Given the description of an element on the screen output the (x, y) to click on. 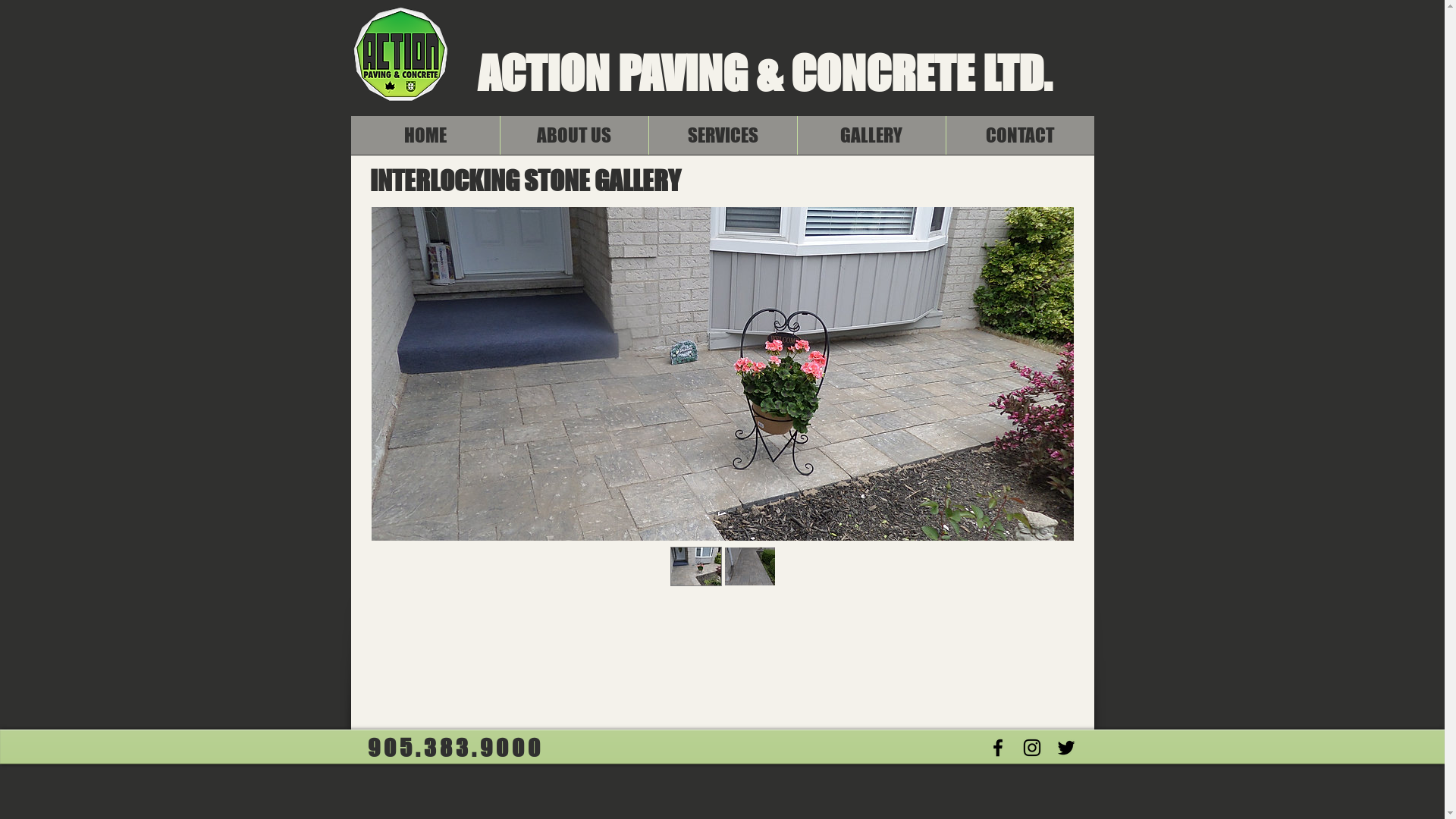
ABOUT US Element type: text (572, 135)
GALLERY Element type: text (870, 135)
CONTACT Element type: text (1018, 135)
APC Logo Element type: hover (399, 60)
HOME Element type: text (424, 135)
SERVICES Element type: text (721, 135)
